Given the description of an element on the screen output the (x, y) to click on. 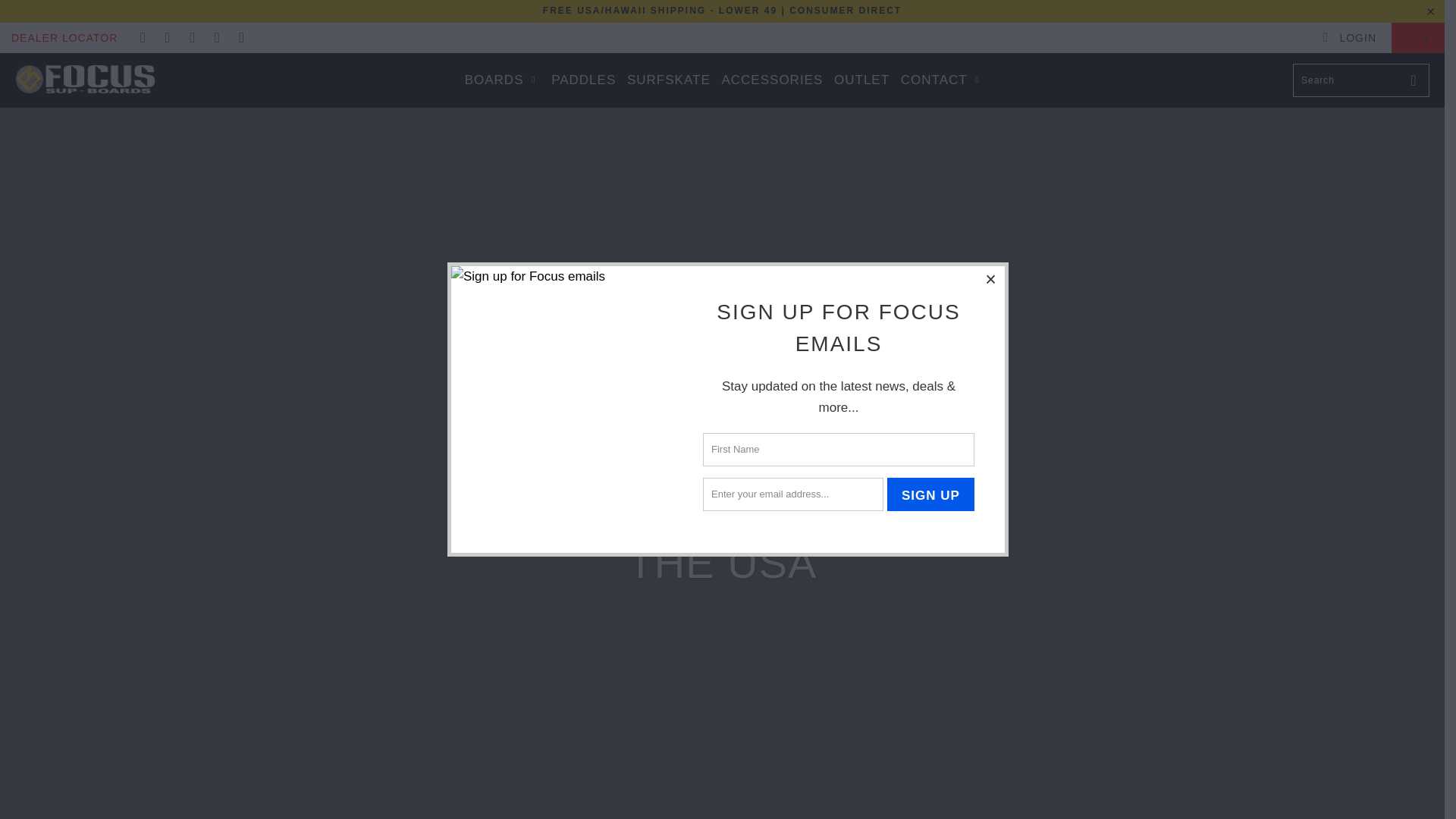
ACCESSORIES (771, 79)
DEALER LOCATOR (63, 37)
LOGIN (1348, 37)
Sign Up (930, 494)
My Account  (1348, 37)
BOARDS (502, 79)
SURFSKATE (668, 79)
PADDLES (583, 79)
Focus SUP Hawaii (84, 79)
